Given the description of an element on the screen output the (x, y) to click on. 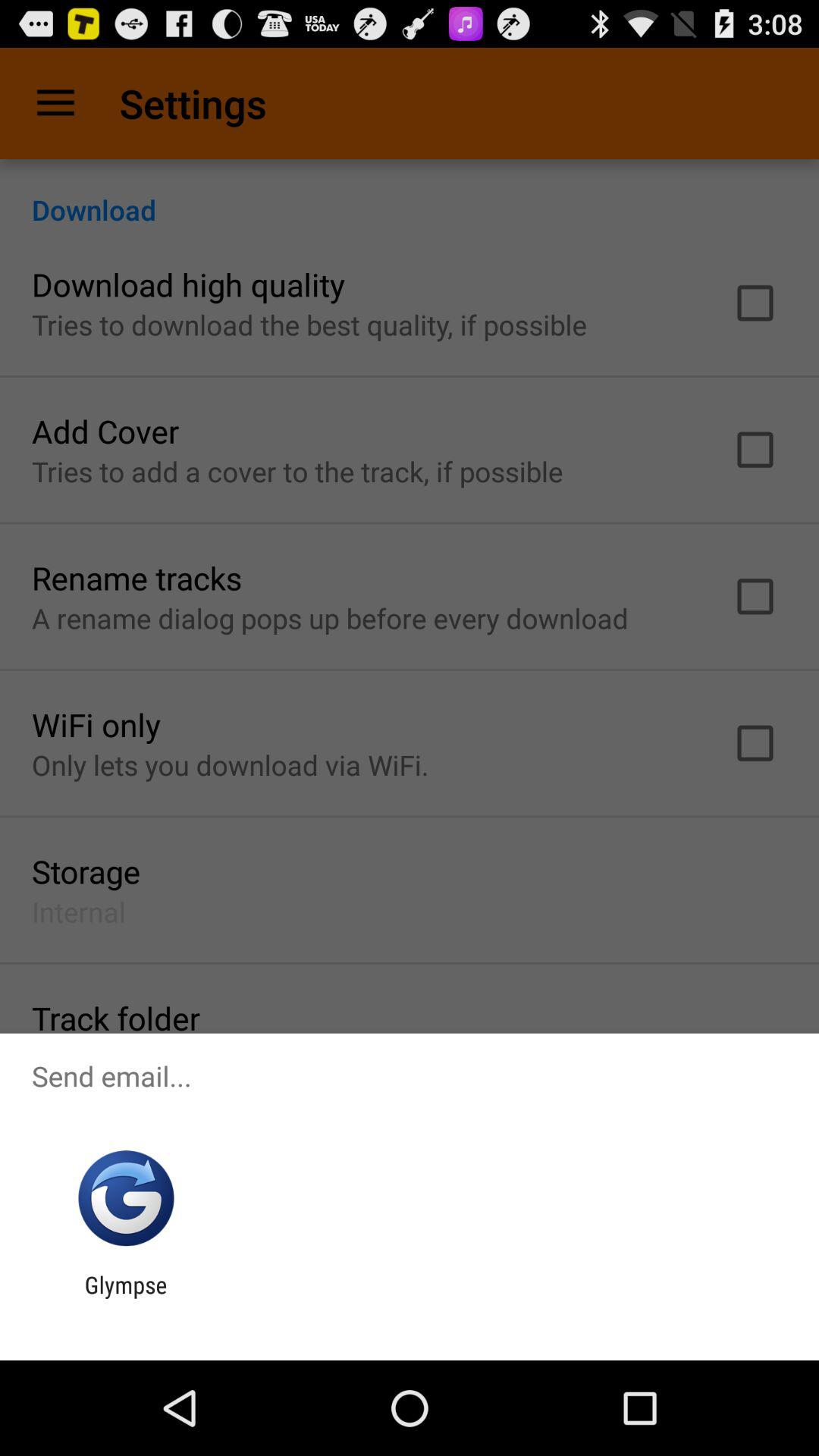
scroll until glympse icon (125, 1298)
